Given the description of an element on the screen output the (x, y) to click on. 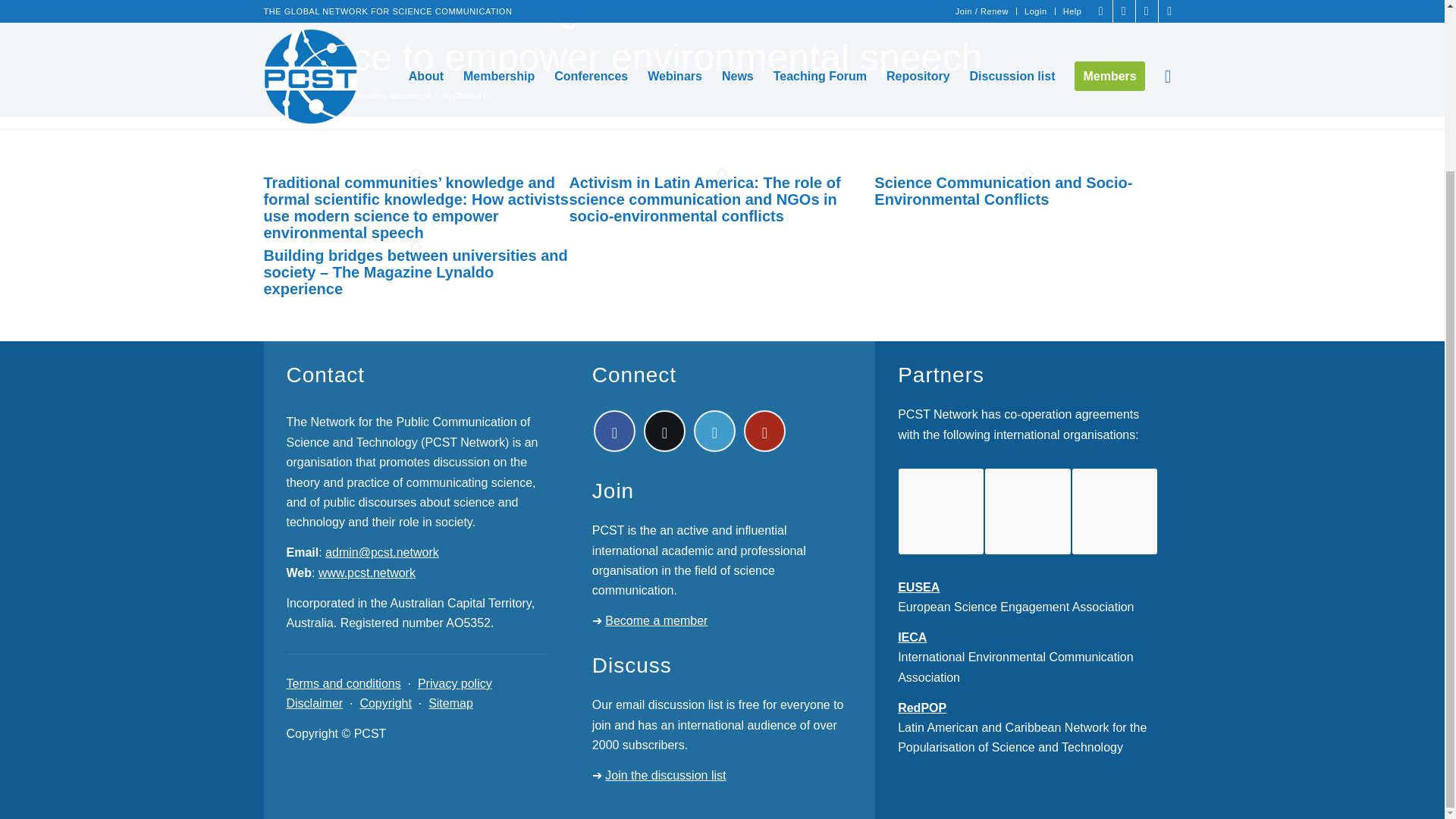
PCST Network (373, 88)
Science Communication and Socio-Environmental Conflicts (1003, 191)
